Given the description of an element on the screen output the (x, y) to click on. 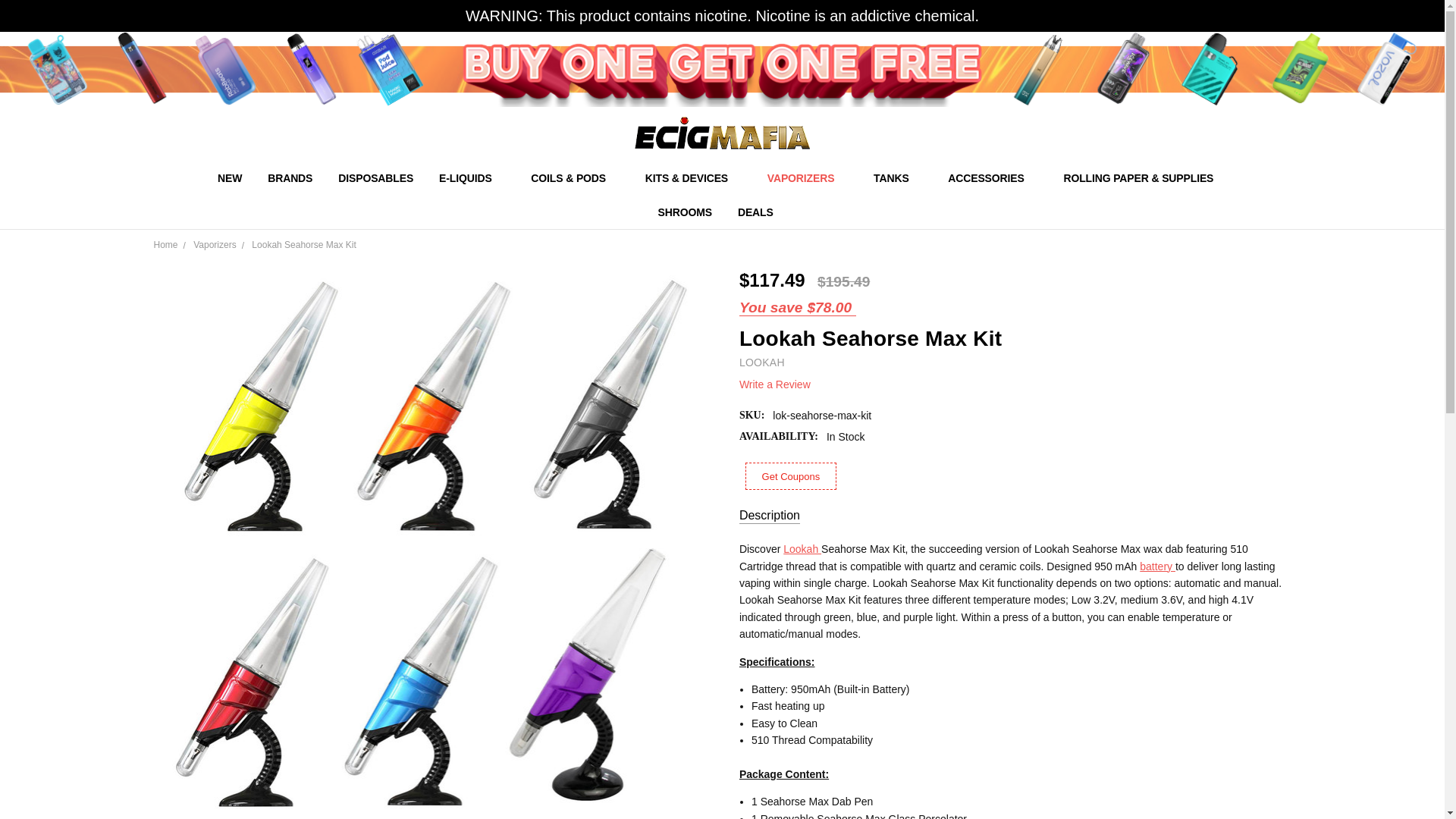
NEW (229, 177)
BRANDS (289, 177)
DISPOSABLES (375, 177)
ECigMafia (721, 134)
E-LIQUIDS (472, 177)
Show All (743, 178)
